Given the description of an element on the screen output the (x, y) to click on. 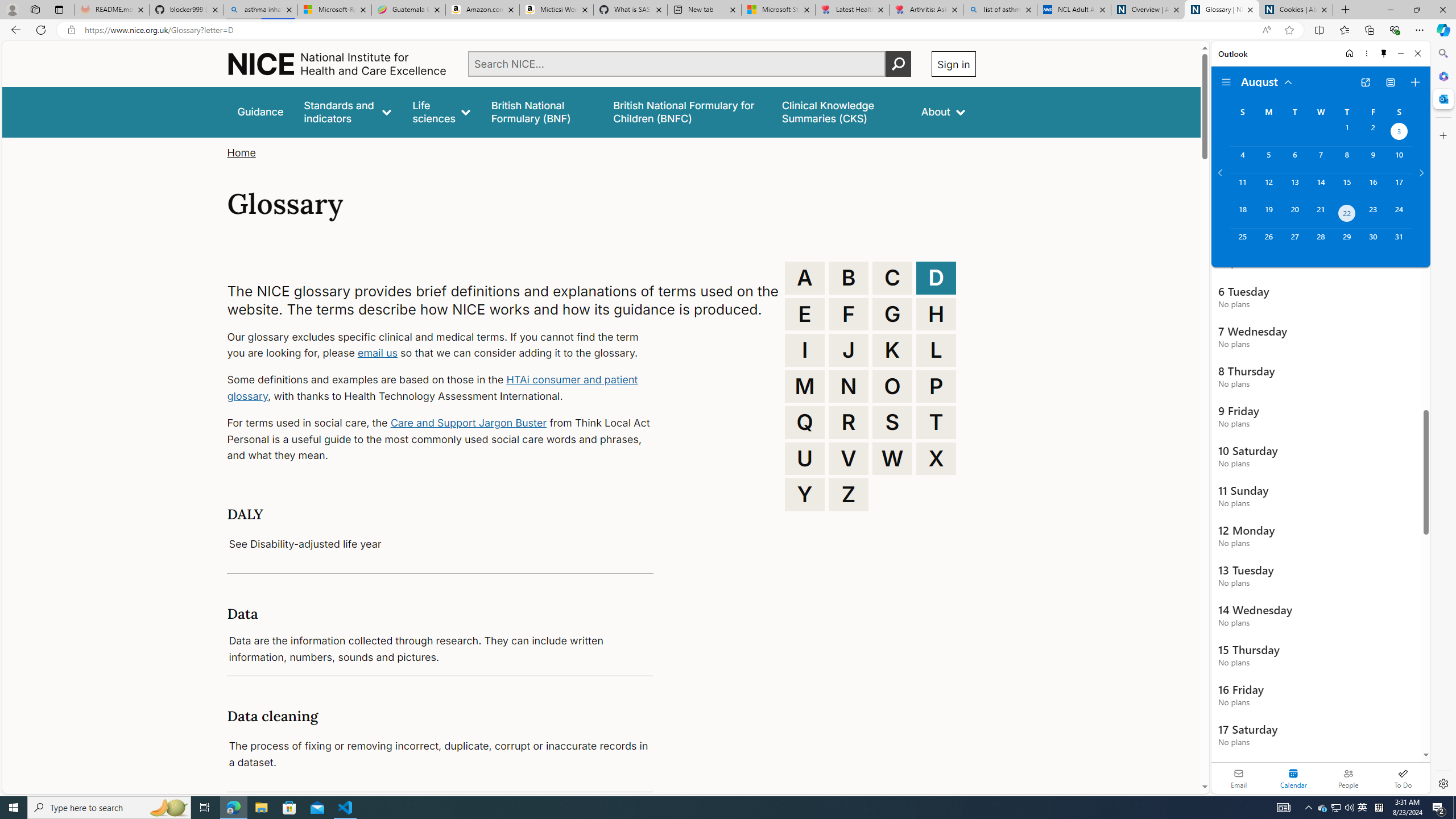
Wednesday, August 7, 2024.  (1320, 159)
Sunday, August 11, 2024.  (1242, 186)
Workspaces (34, 9)
B (848, 277)
Sign in (952, 63)
Thursday, August 8, 2024.  (1346, 159)
Perform search (898, 63)
G (892, 313)
U (804, 458)
I (804, 350)
August (1267, 80)
Q (804, 422)
Friday, August 16, 2024.  (1372, 186)
